Given the description of an element on the screen output the (x, y) to click on. 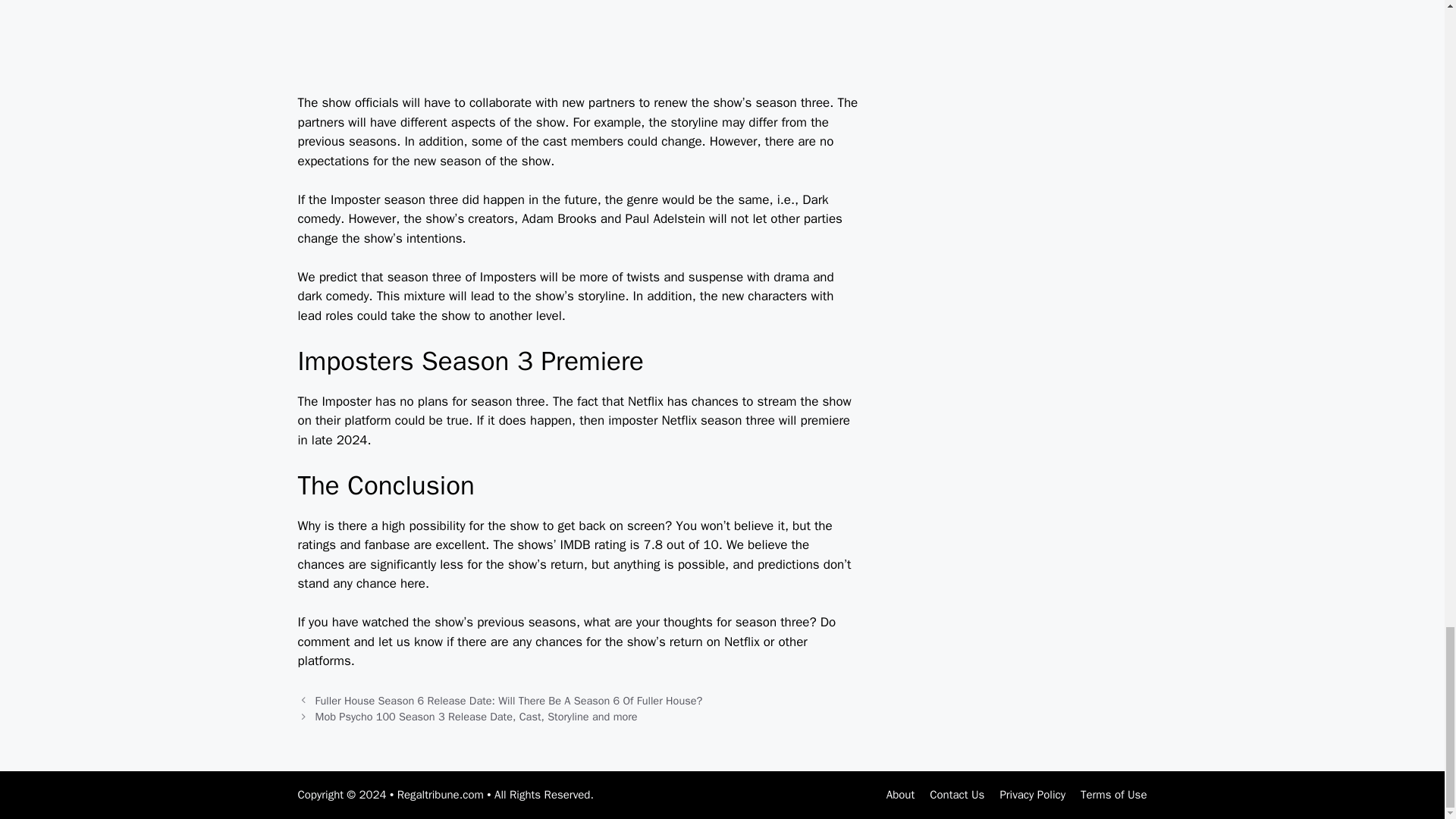
About (900, 794)
Privacy Policy (1031, 794)
Terms of Use (1113, 794)
Contact Us (957, 794)
